Given the description of an element on the screen output the (x, y) to click on. 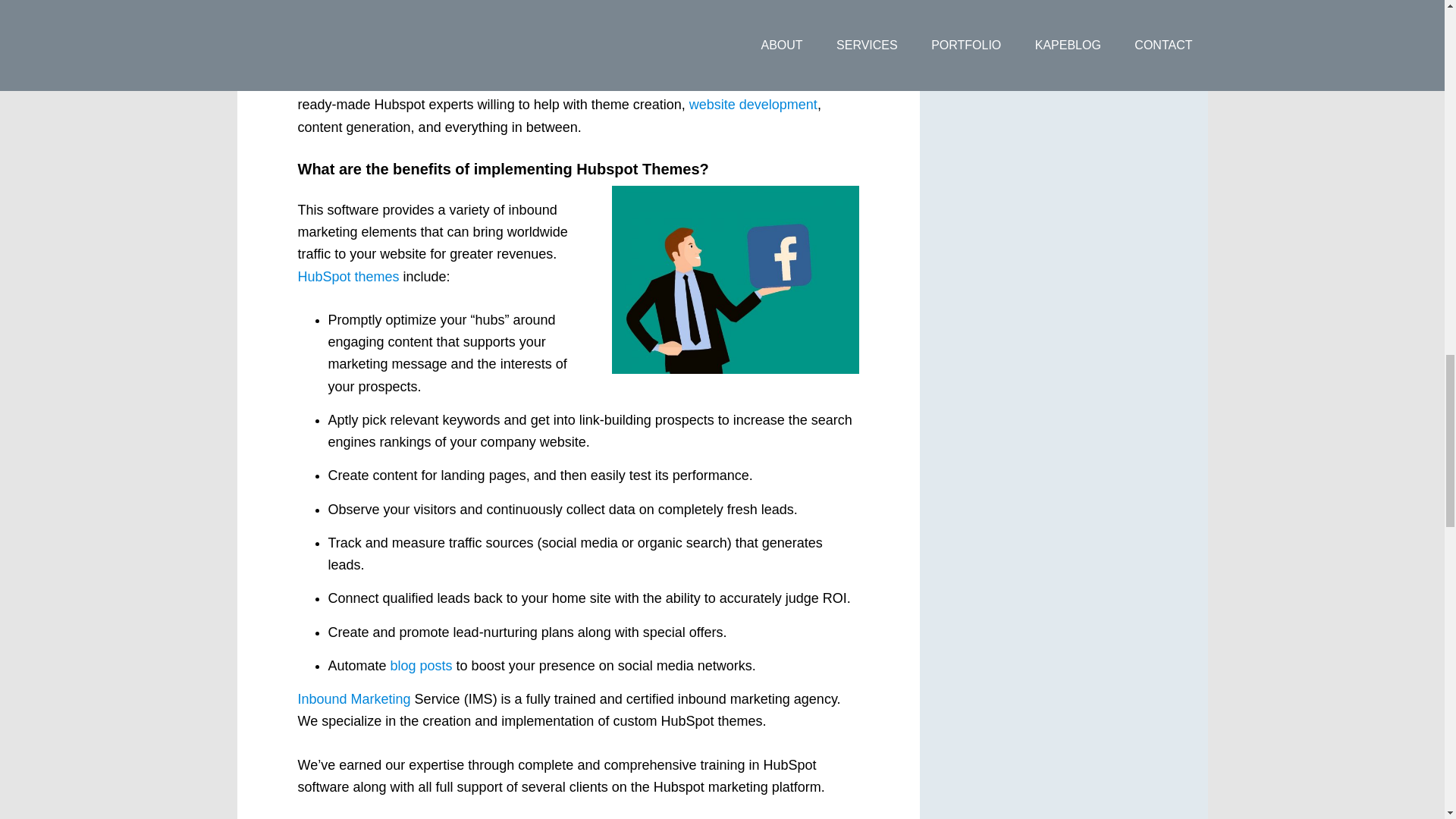
Website Development (752, 104)
Blog Posts (421, 665)
Inbound Marketing (353, 698)
